Given the description of an element on the screen output the (x, y) to click on. 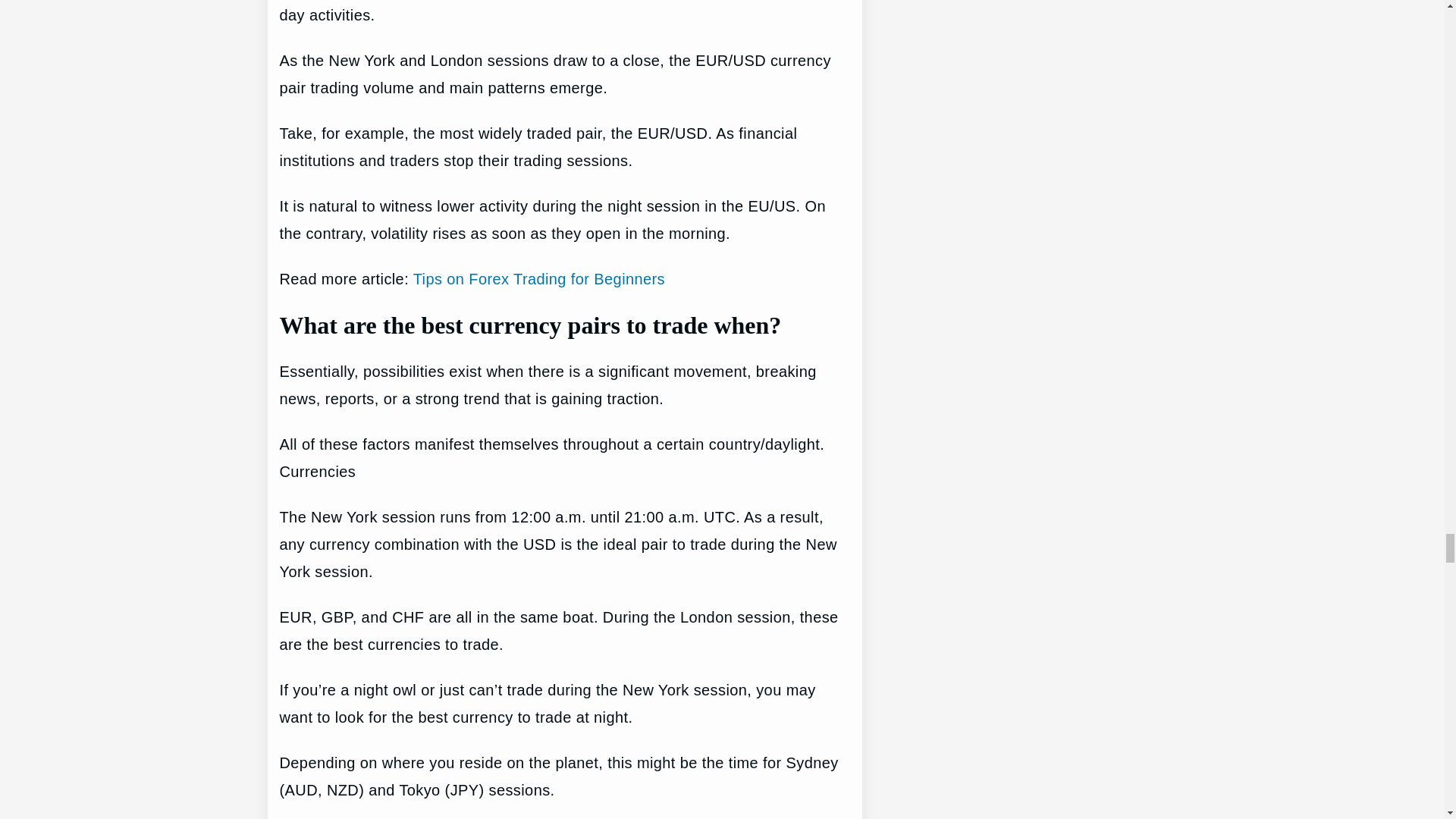
Tips on Forex Trading for Beginners (539, 279)
